Given the description of an element on the screen output the (x, y) to click on. 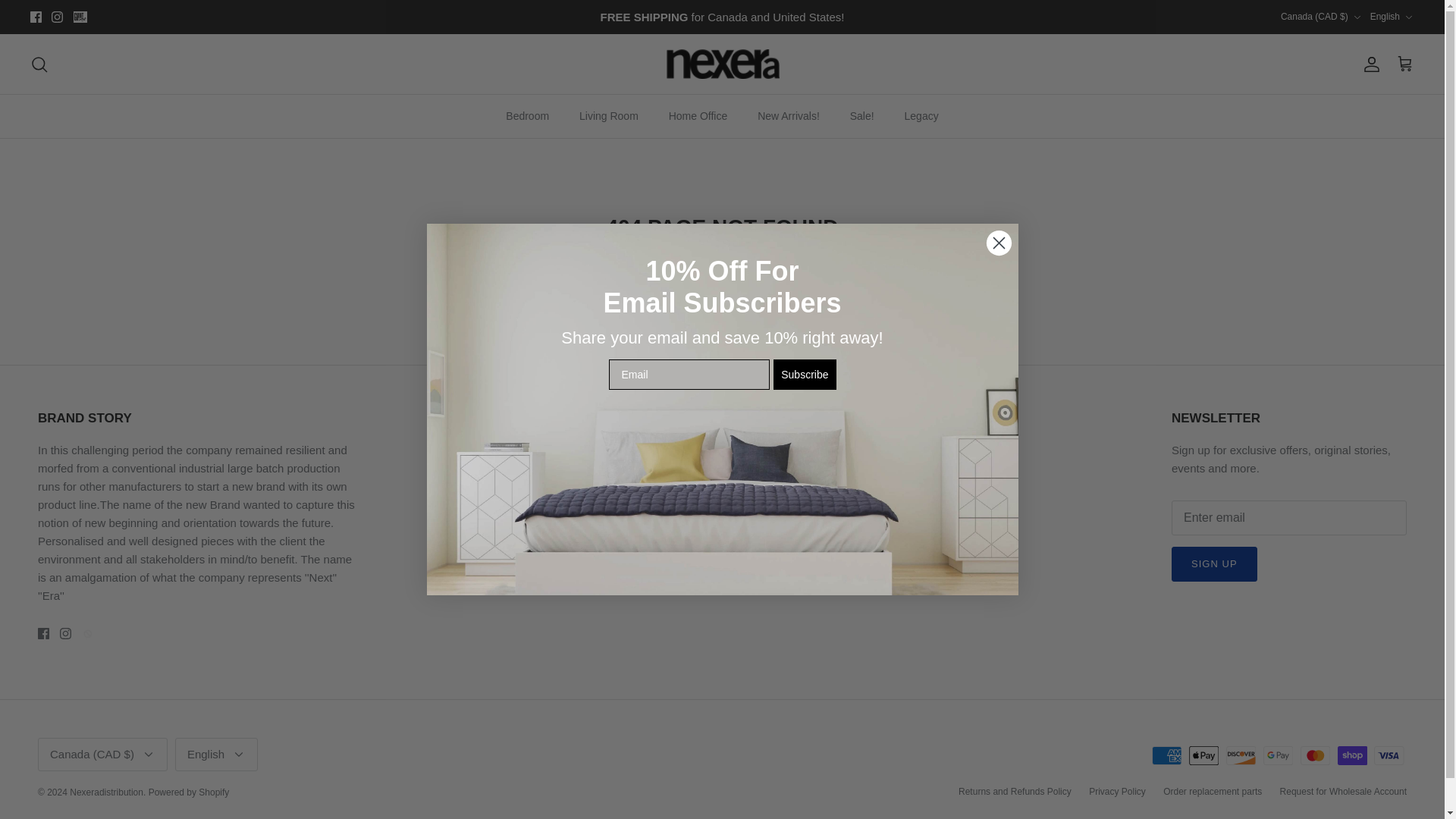
Bedroom (527, 116)
New Arrivals! (788, 116)
Down (1408, 17)
Legacy (921, 116)
Mastercard (1315, 755)
Google Pay (1277, 755)
Instagram (56, 16)
Sale! (861, 116)
Home Office (698, 116)
Apple Pay (1203, 755)
Account (1368, 64)
Close dialog 1 (998, 243)
Instagram (65, 633)
Search (39, 64)
Cart (1404, 64)
